Given the description of an element on the screen output the (x, y) to click on. 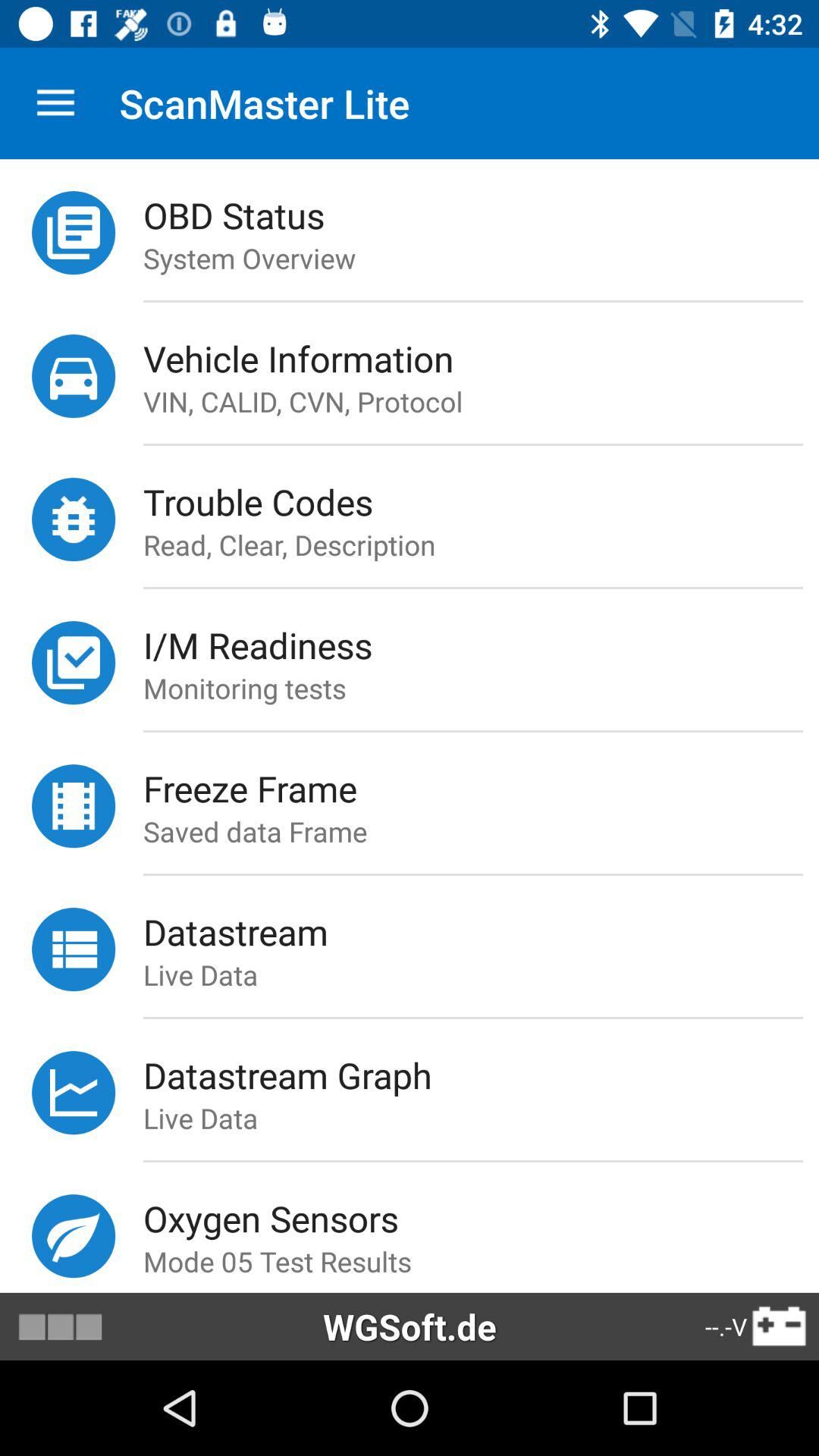
open icon above the i/m readiness (473, 587)
